Given the description of an element on the screen output the (x, y) to click on. 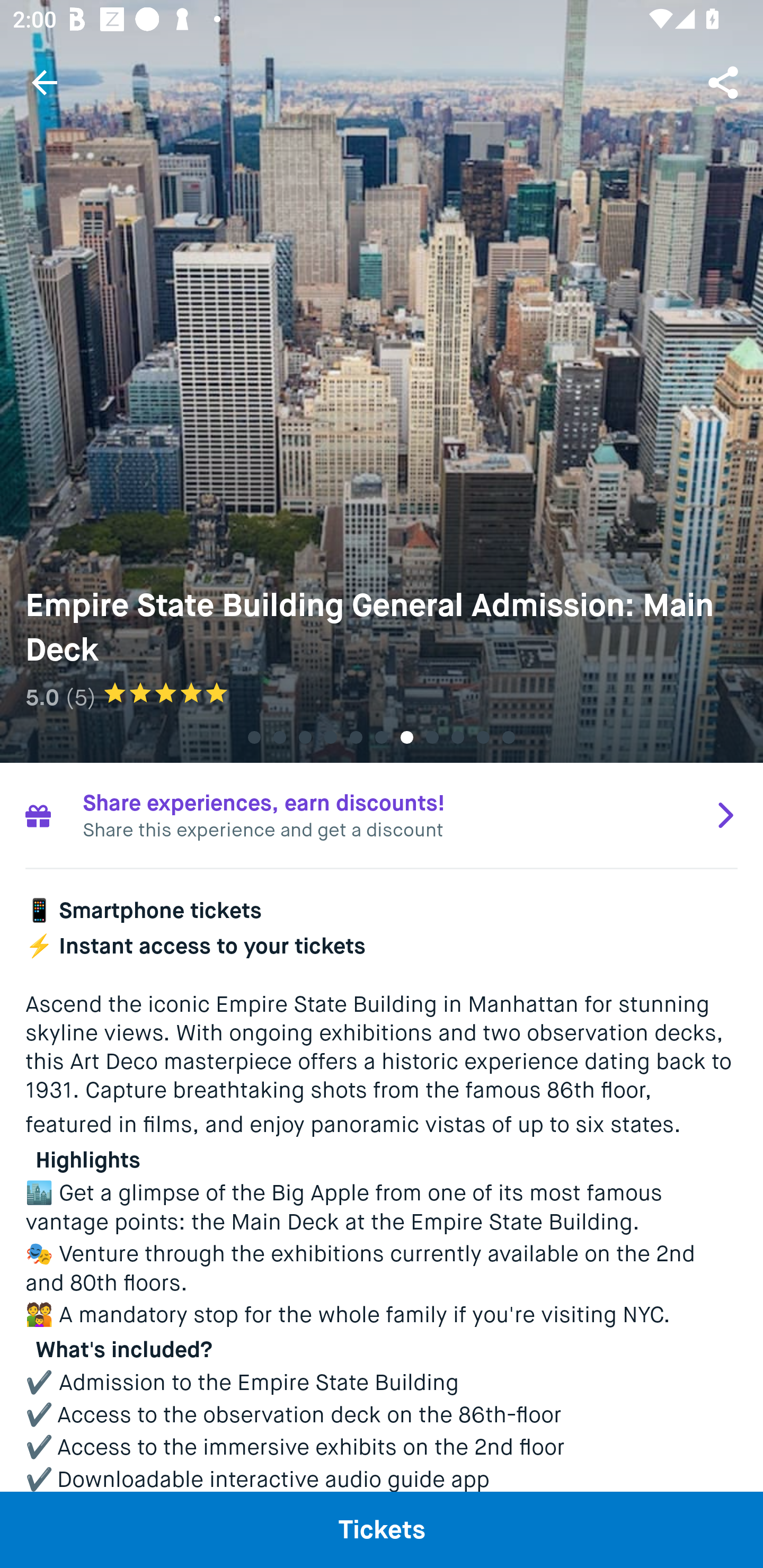
Navigate up (44, 82)
Share (724, 81)
(5) (80, 697)
Tickets (381, 1529)
